Given the description of an element on the screen output the (x, y) to click on. 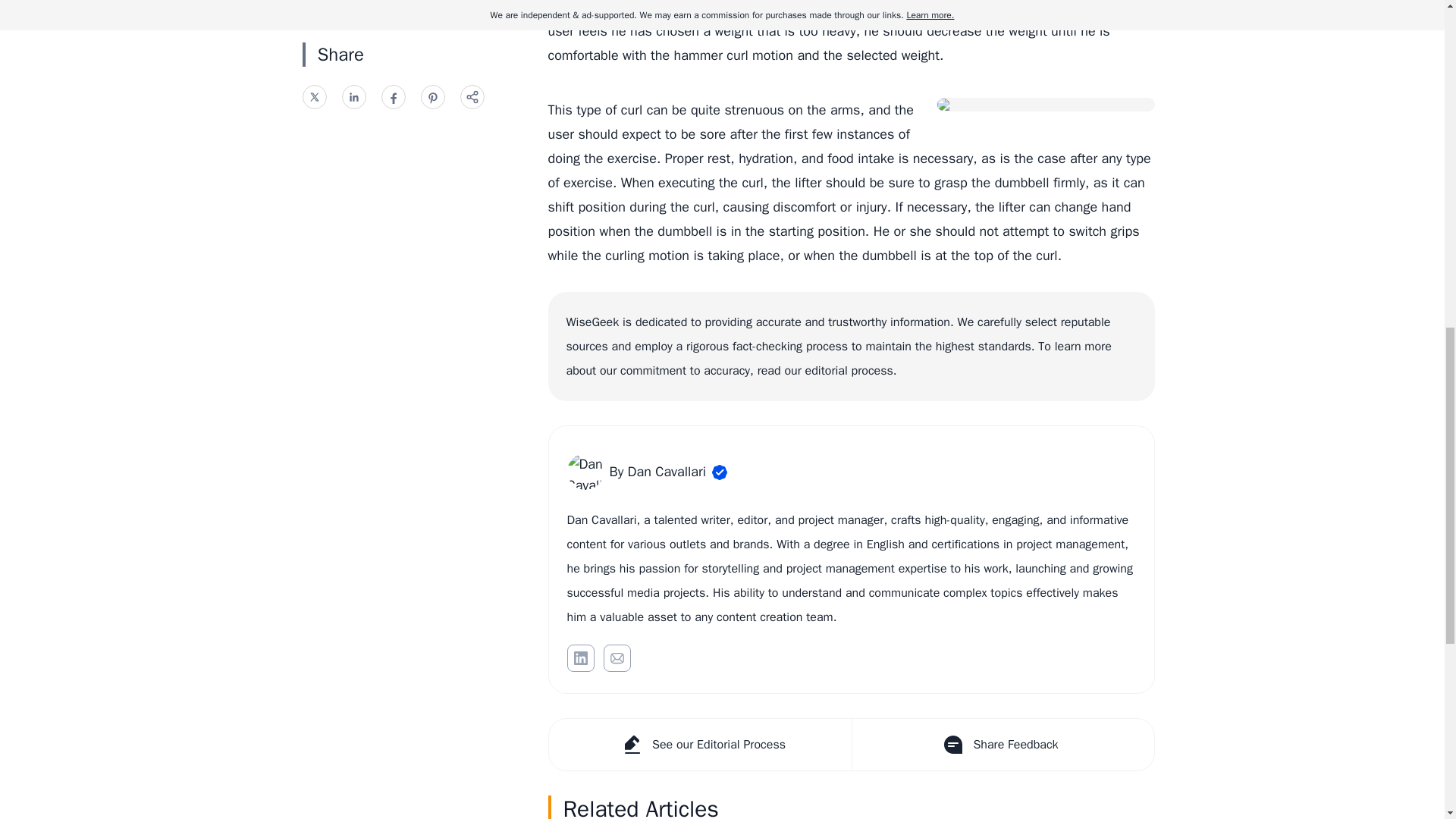
Share Feedback (1001, 744)
See our Editorial Process (699, 744)
